Given the description of an element on the screen output the (x, y) to click on. 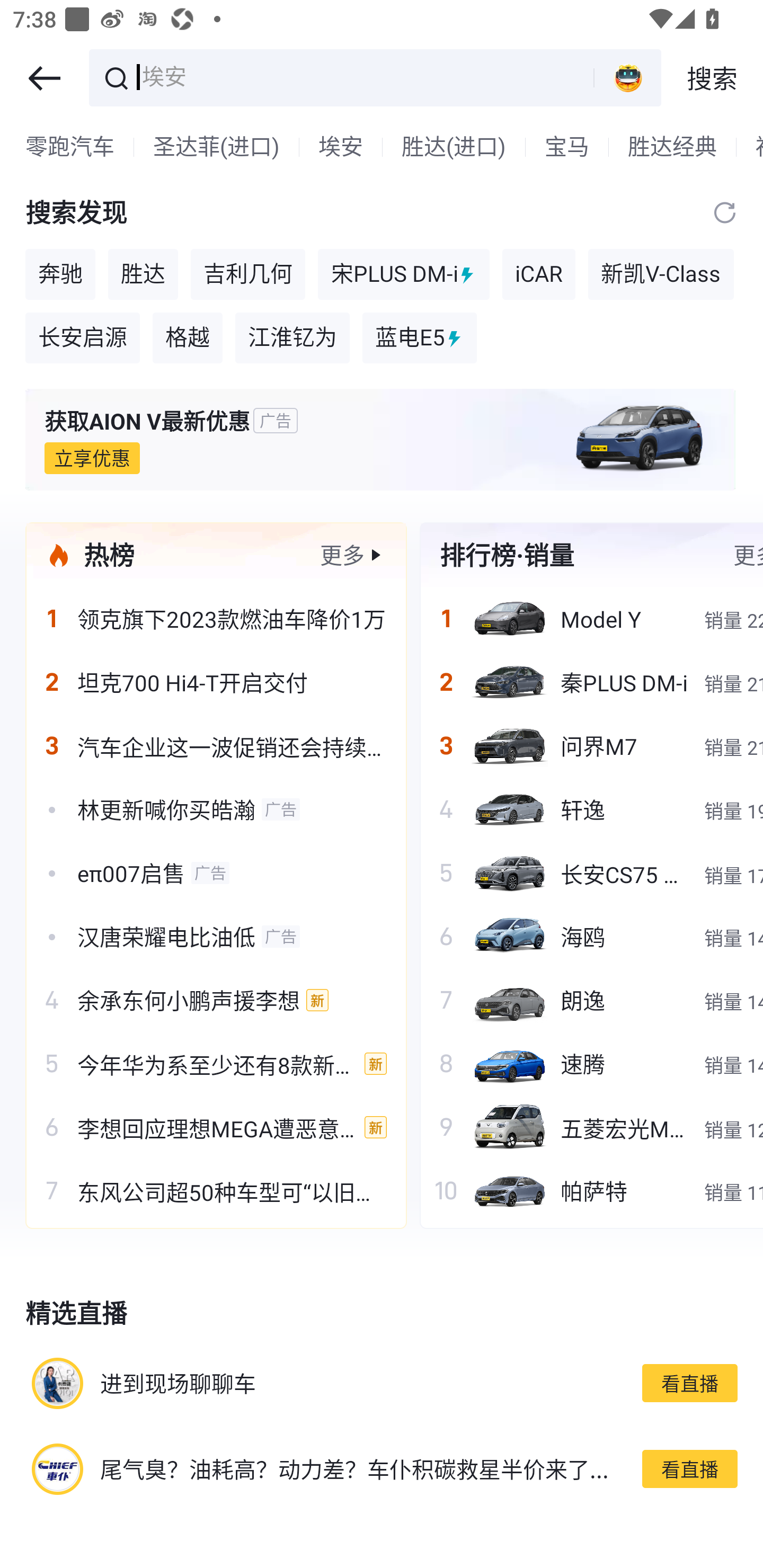
 埃安 (364, 76)
 (44, 78)
搜索 (711, 78)
零跑汽车 (69, 147)
圣达菲(进口) (216, 147)
埃安 (340, 147)
胜达(进口) (453, 147)
宝马 (566, 147)
胜达经典 (672, 147)
 (724, 212)
奔驰 (60, 274)
胜达 (142, 274)
吉利几何 (247, 274)
宋PLUS DM-i (403, 274)
iCAR (538, 274)
新凯V-Class (661, 274)
长安启源 (82, 337)
格越 (187, 337)
江淮钇为 (292, 337)
蓝电E5 (419, 337)
获取AION V最新优惠 广告 立享优惠 (381, 439)
更多 (341, 554)
领克旗下2023款燃油车降价1万 (215, 618)
Model Y 销量 22537 (591, 618)
坦克700 Hi4-T开启交付 (215, 681)
秦PLUS DM-i 销量 21268 (591, 681)
汽车企业这一波促销还会持续多久 (215, 745)
问界M7 销量 21083 (591, 745)
林更新喊你买皓瀚 (215, 808)
轩逸 销量 19878 (591, 808)
eπ007启售 (215, 872)
长安CS75 PLUS 销量 17303 (591, 872)
汉唐荣耀电比油低 (215, 936)
海鸥 销量 14403 (591, 936)
余承东何小鹏声援李想 (215, 1000)
朗逸 销量 14400 (591, 1000)
今年华为系至少还有8款新车要来 (215, 1063)
速腾 销量 14209 (591, 1063)
李想回应理想MEGA遭恶意P图 (215, 1127)
五菱宏光MINIEV 销量 12649 (591, 1127)
东风公司超50种车型可“以旧换新” (215, 1190)
帕萨特 销量 11641 (591, 1190)
进到现场聊聊车 看直播 (381, 1382)
尾气臭？油耗高？动力差？车仆积碳救星半价来了... 看直播 (381, 1468)
